Given the description of an element on the screen output the (x, y) to click on. 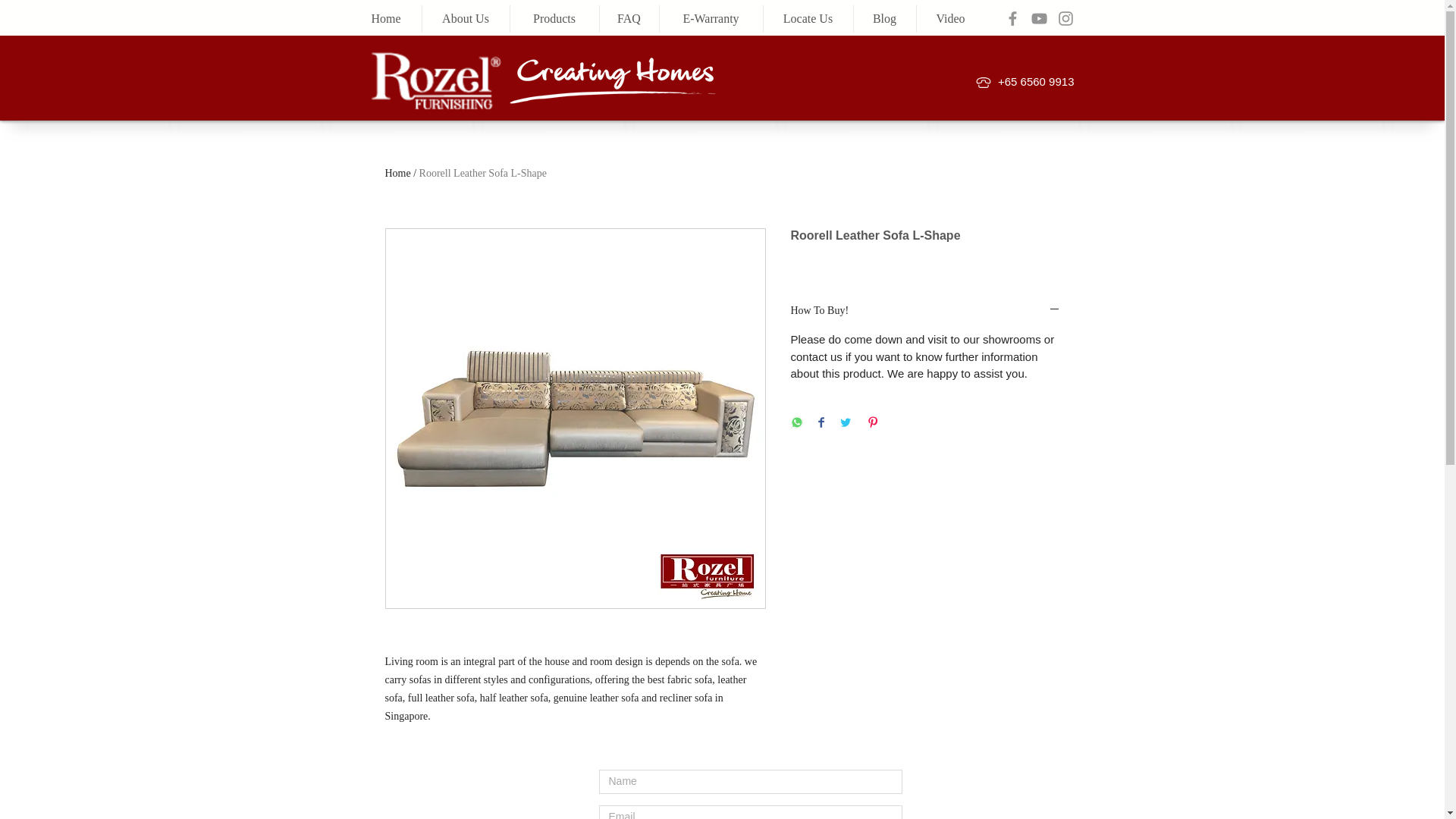
Home (397, 173)
E-Warranty (709, 18)
Roorell Leather Sofa L-Shape (483, 173)
About Us (465, 18)
Video (950, 18)
FAQ (628, 18)
How To Buy! (924, 311)
Home (385, 18)
Locate Us (807, 18)
Blog (883, 18)
Products (553, 18)
